Given the description of an element on the screen output the (x, y) to click on. 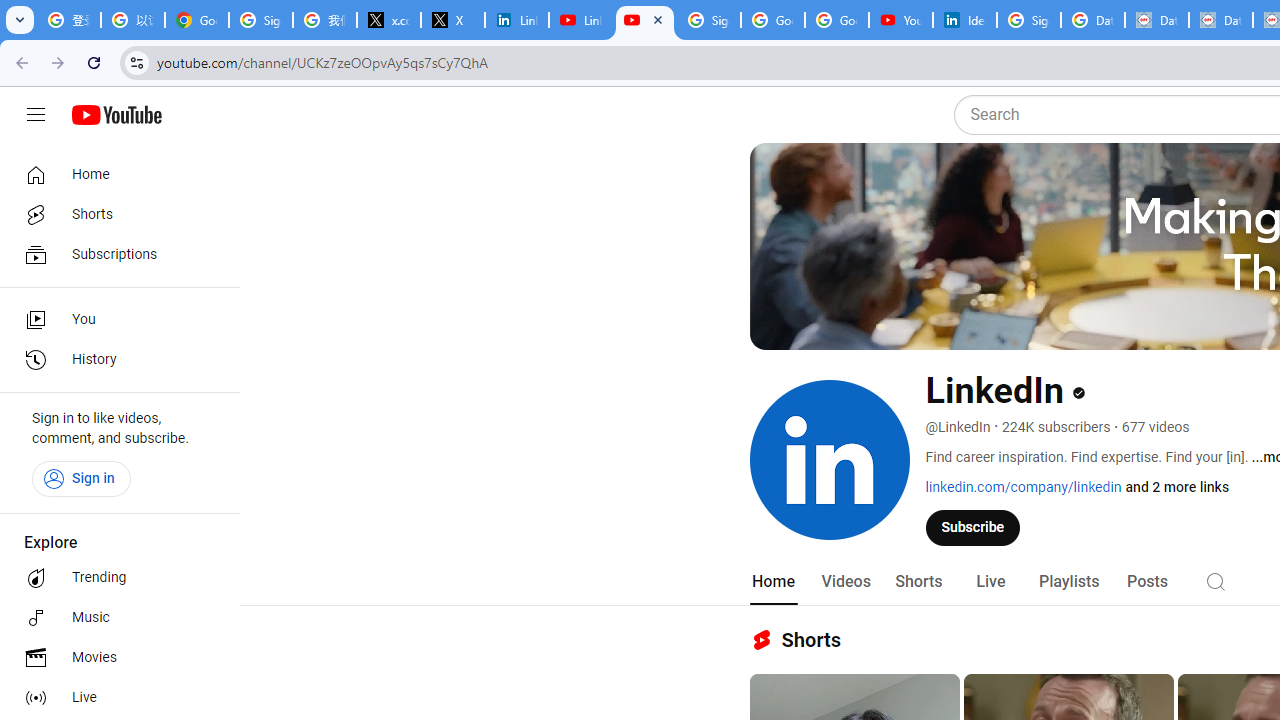
LinkedIn - YouTube (581, 20)
LinkedIn Privacy Policy (517, 20)
Sign in - Google Accounts (709, 20)
Live (990, 581)
linkedin.com/company/linkedin (1023, 487)
Videos (845, 581)
Home (113, 174)
YouTube Home (116, 115)
Subscriptions (113, 254)
